Given the description of an element on the screen output the (x, y) to click on. 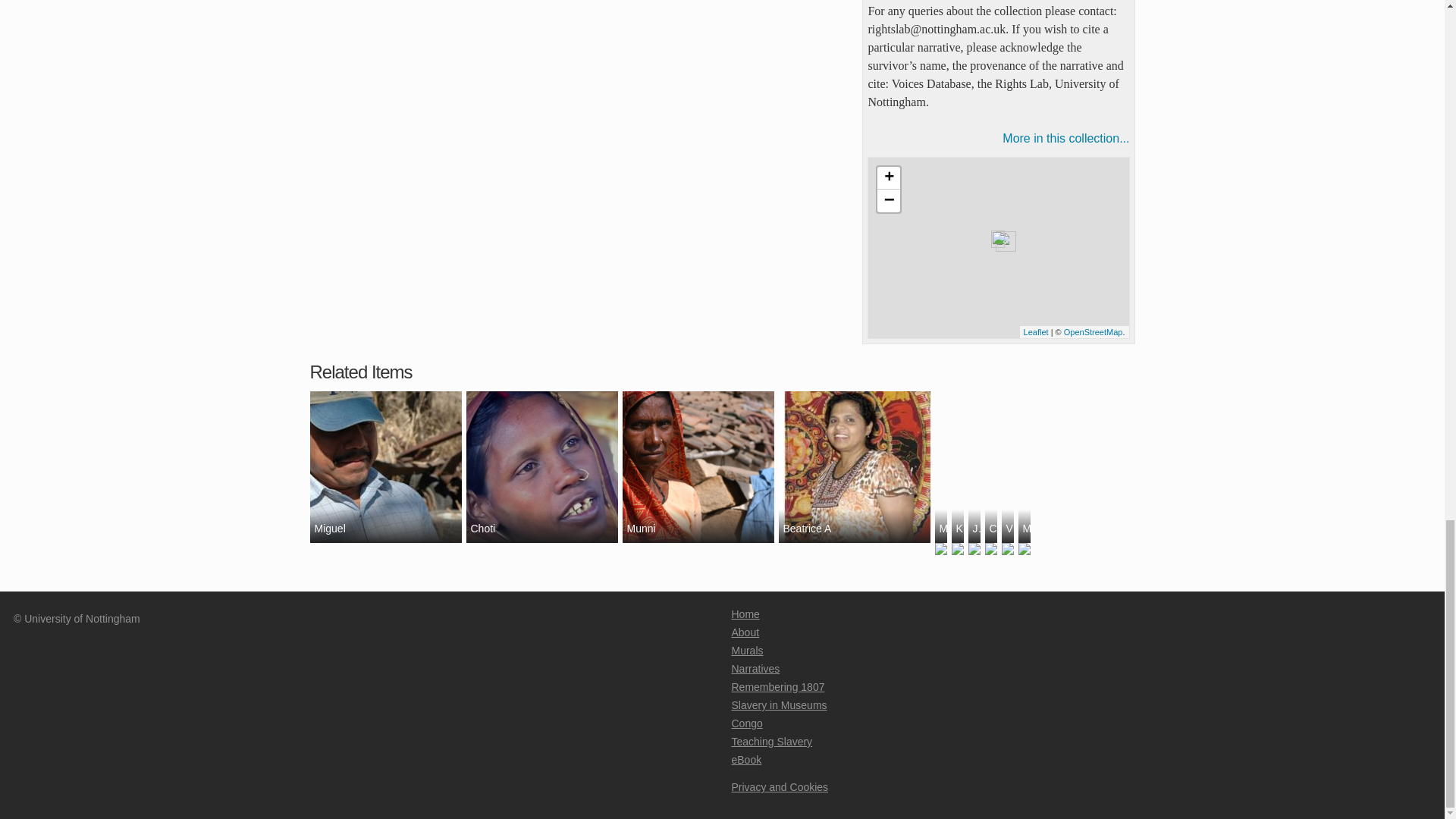
About (744, 632)
Home (744, 613)
Remembering 1807 (777, 686)
More in this collection... (998, 138)
Zoom out (888, 200)
OpenStreetMap (1093, 330)
Leaflet (1035, 330)
Zoom in (888, 178)
Narratives (754, 668)
Murals (746, 650)
A JS library for interactive maps (1035, 330)
